Given the description of an element on the screen output the (x, y) to click on. 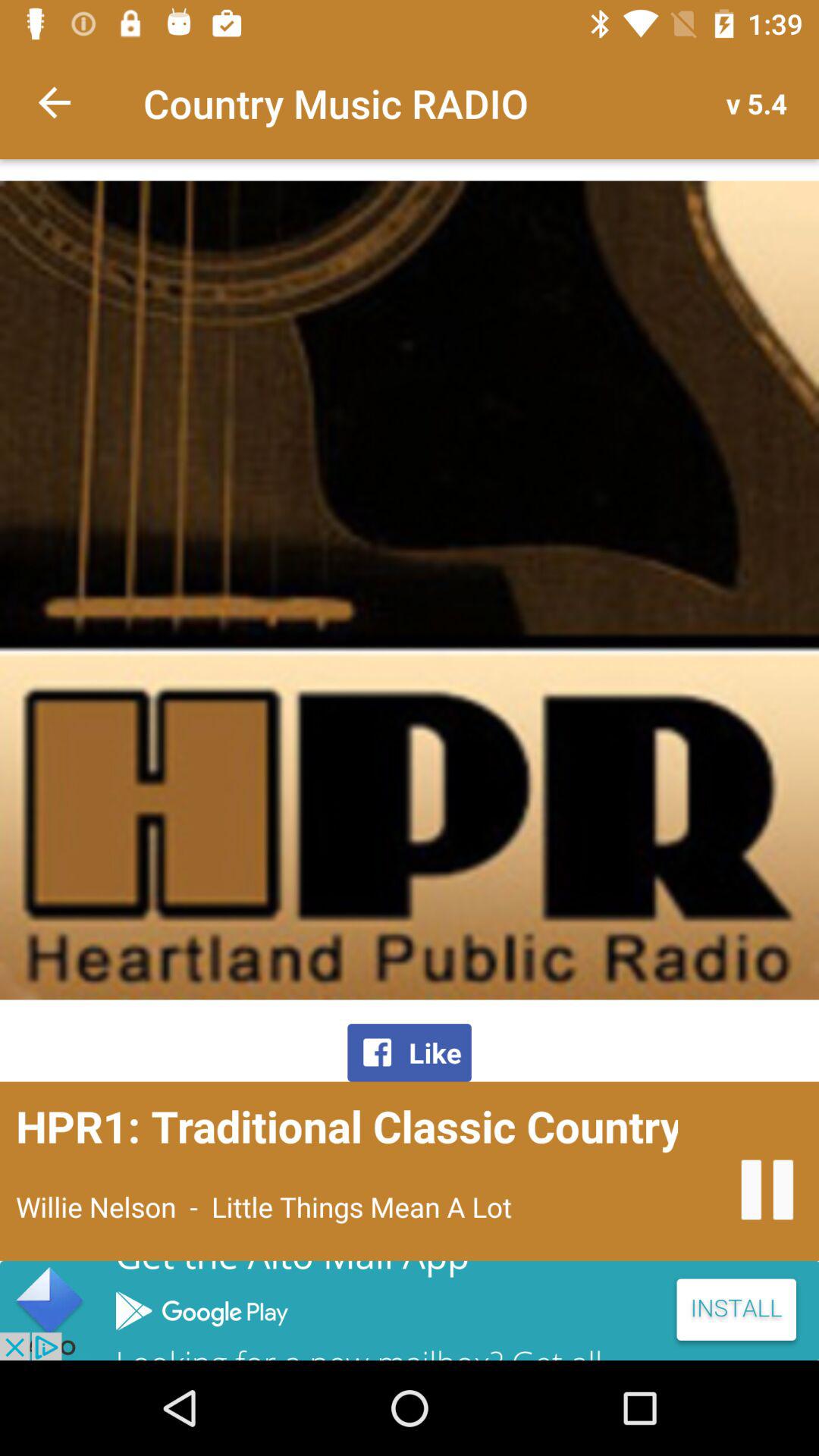
pause (767, 1189)
